Given the description of an element on the screen output the (x, y) to click on. 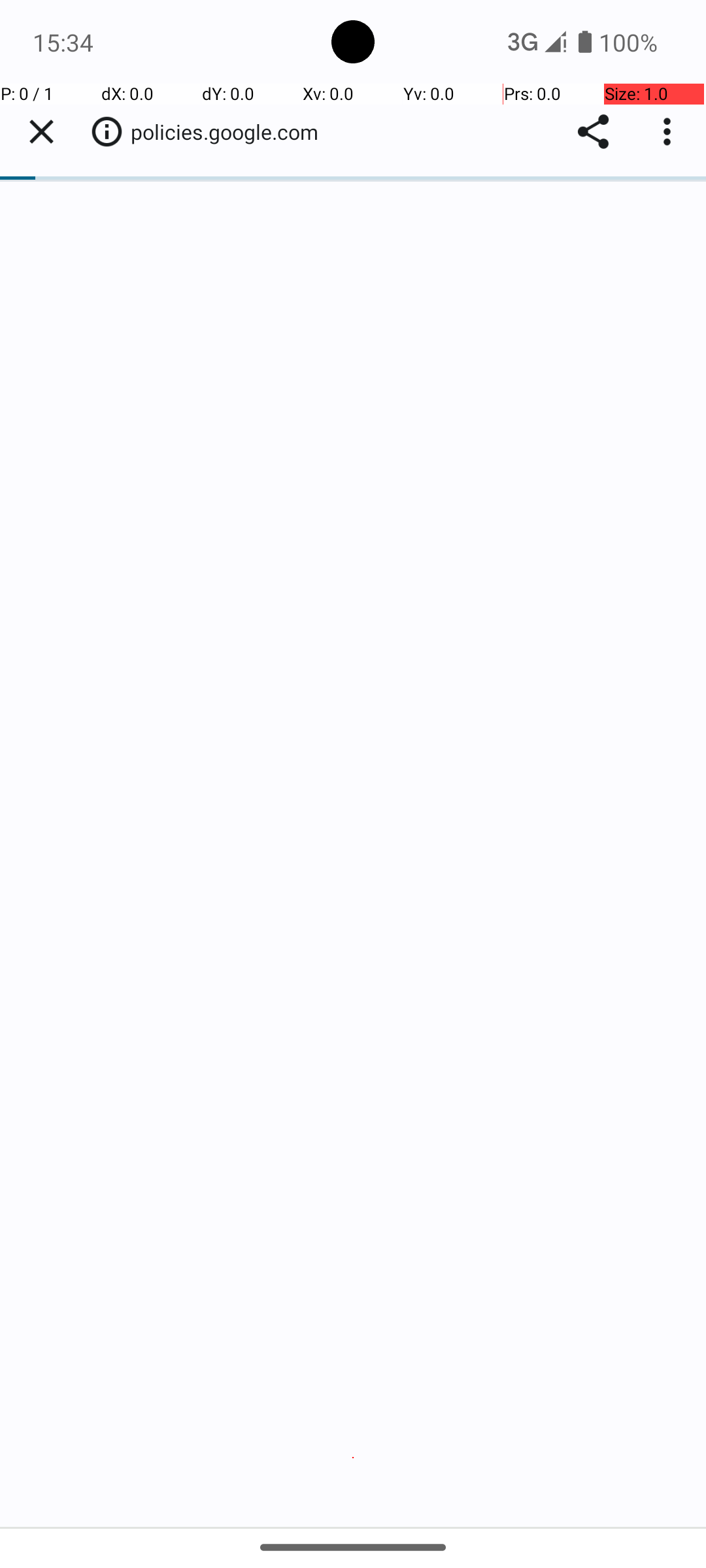
policies.google.com Element type: android.widget.TextView (231, 131)
